Given the description of an element on the screen output the (x, y) to click on. 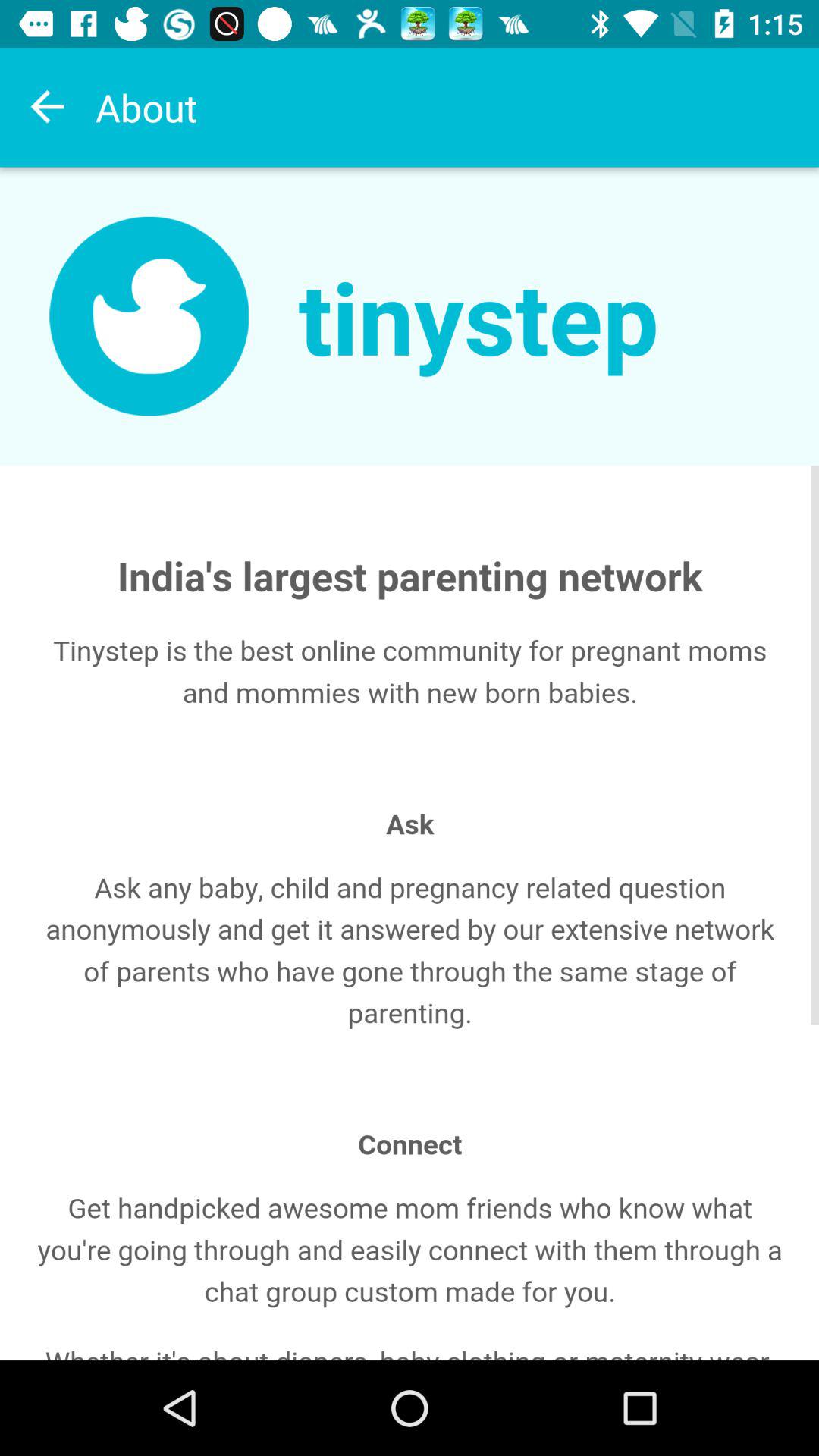
go to previous (47, 107)
